Given the description of an element on the screen output the (x, y) to click on. 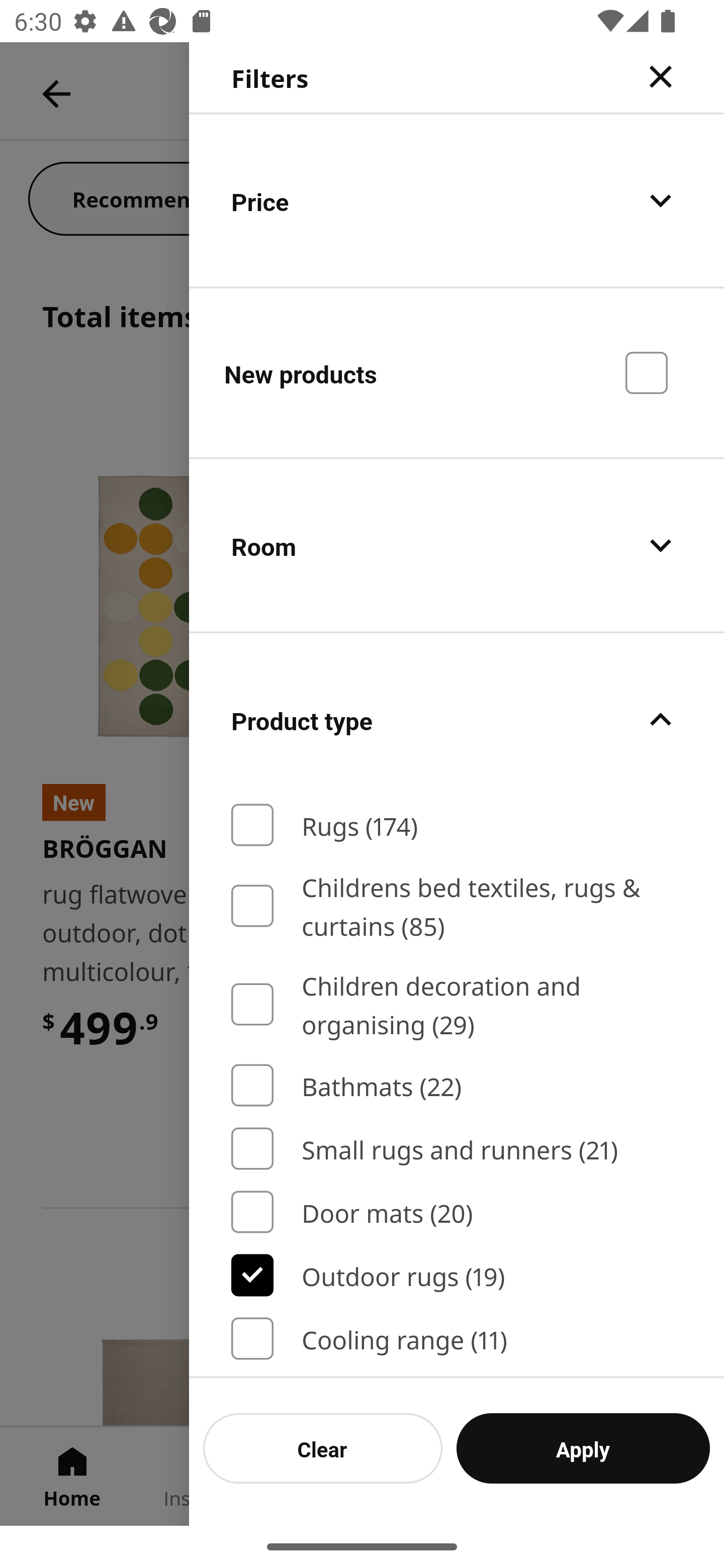
Price (456, 200)
New products (456, 371)
Room (456, 545)
Product type (456, 719)
Rugs (174) (456, 825)
Childrens bed textiles, rugs & curtains (85) (456, 906)
Children decoration and organising (29) (456, 1003)
Bathmats (22) (456, 1085)
Small rugs and runners (21) (456, 1148)
Door mats (20) (456, 1212)
Outdoor rugs (19) (456, 1275)
Cooling range (11) (456, 1338)
Clear (322, 1447)
Apply (583, 1447)
